Given the description of an element on the screen output the (x, y) to click on. 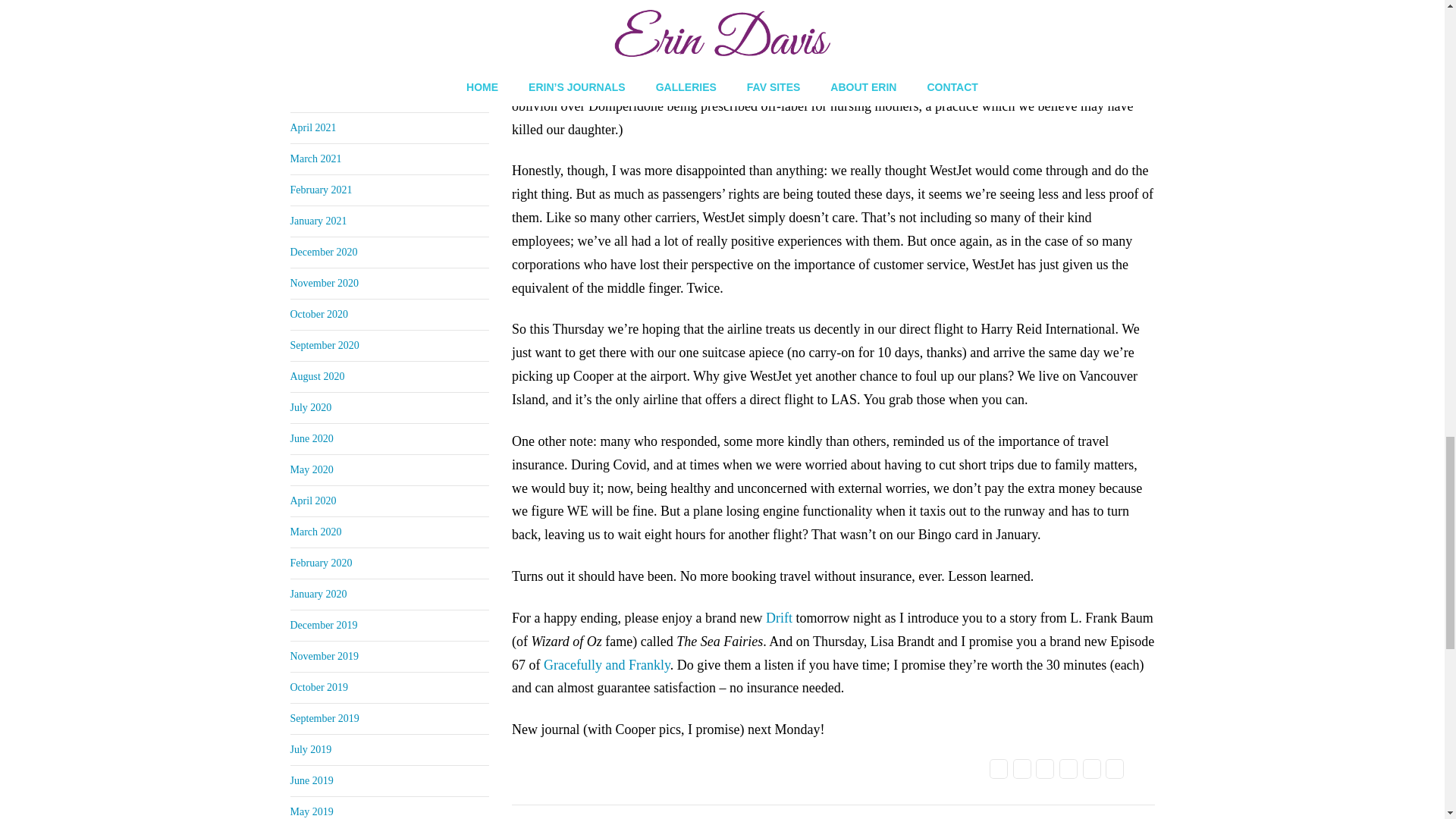
Drift (778, 617)
Gracefully and Frankly (606, 664)
